Given the description of an element on the screen output the (x, y) to click on. 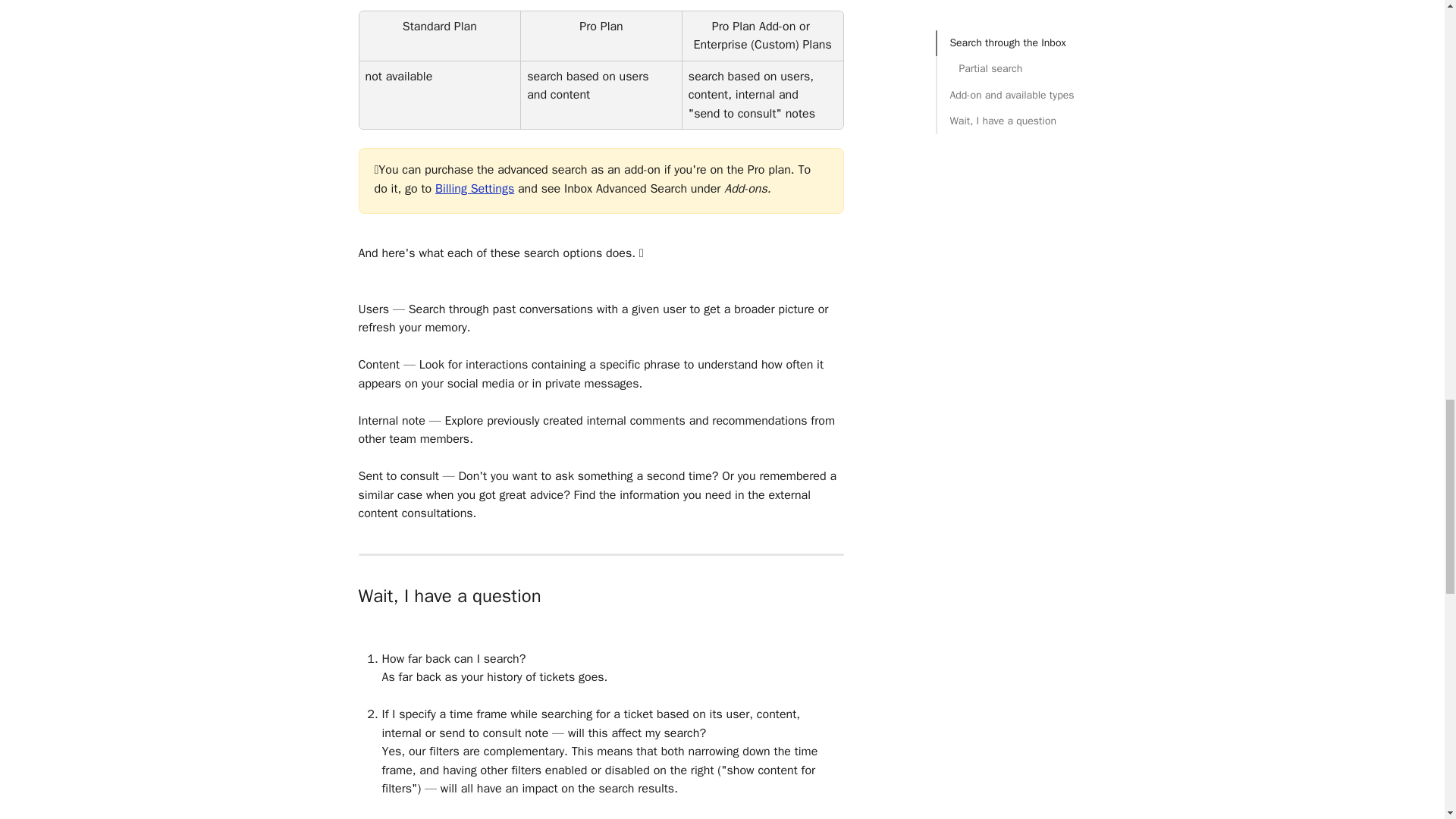
Billing Settings (474, 187)
